Given the description of an element on the screen output the (x, y) to click on. 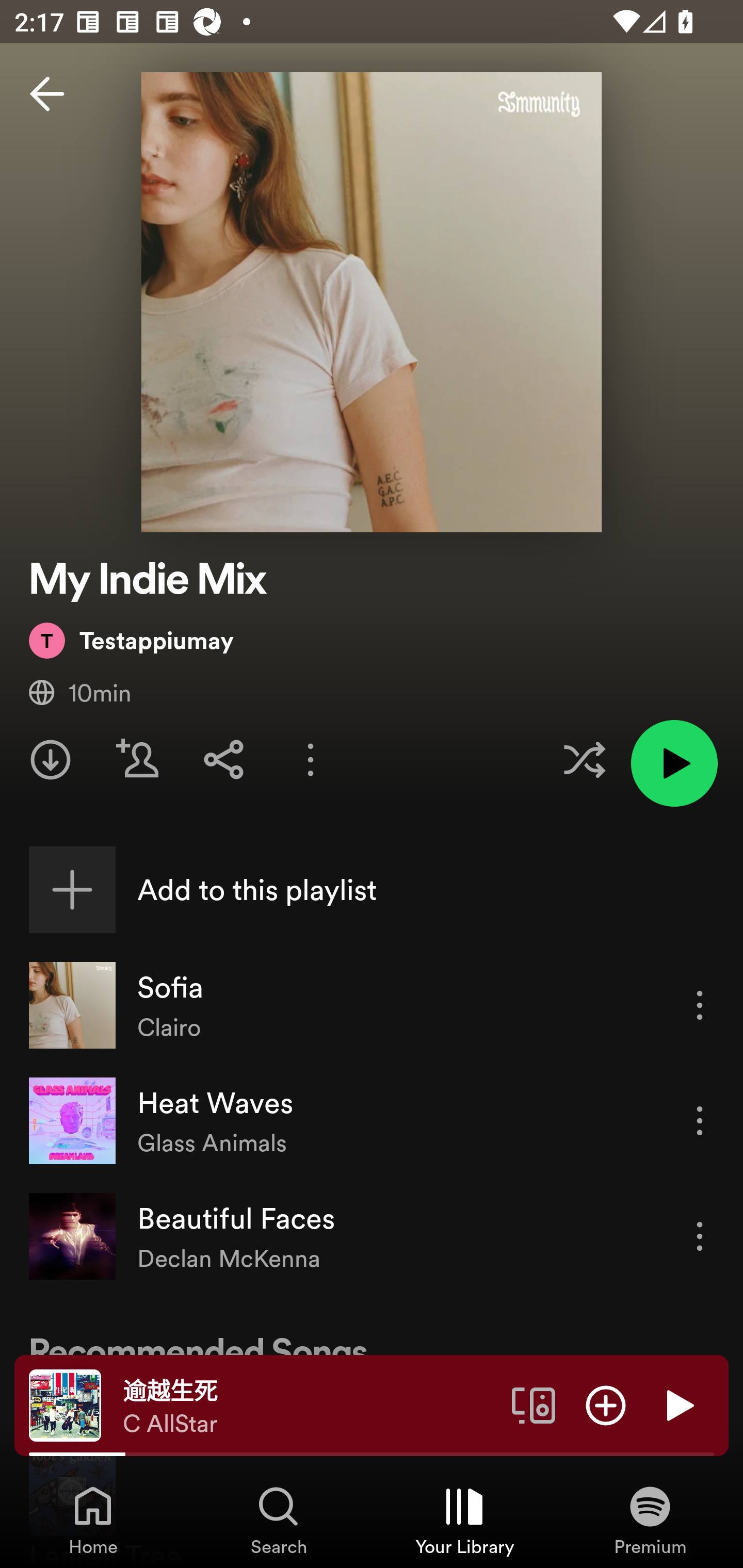
Back (46, 93)
Testappiumay (131, 640)
Download (50, 759)
Invite Friends for playlist (136, 759)
More options for playlist My Indie Mix (310, 759)
Enable shuffle for this playlist (583, 759)
Play playlist (674, 763)
Add to this playlist (371, 889)
Sofia Clairo More options for song Sofia (371, 1005)
More options for song Sofia (699, 1004)
More options for song Heat Waves (699, 1120)
More options for song Beautiful Faces (699, 1236)
逾越生死 C AllStar (309, 1405)
The cover art of the currently playing track (64, 1404)
Connect to a device. Opens the devices menu (533, 1404)
Add item (605, 1404)
Play (677, 1404)
Home, Tab 1 of 4 Home Home (92, 1519)
Search, Tab 2 of 4 Search Search (278, 1519)
Your Library, Tab 3 of 4 Your Library Your Library (464, 1519)
Premium, Tab 4 of 4 Premium Premium (650, 1519)
